Given the description of an element on the screen output the (x, y) to click on. 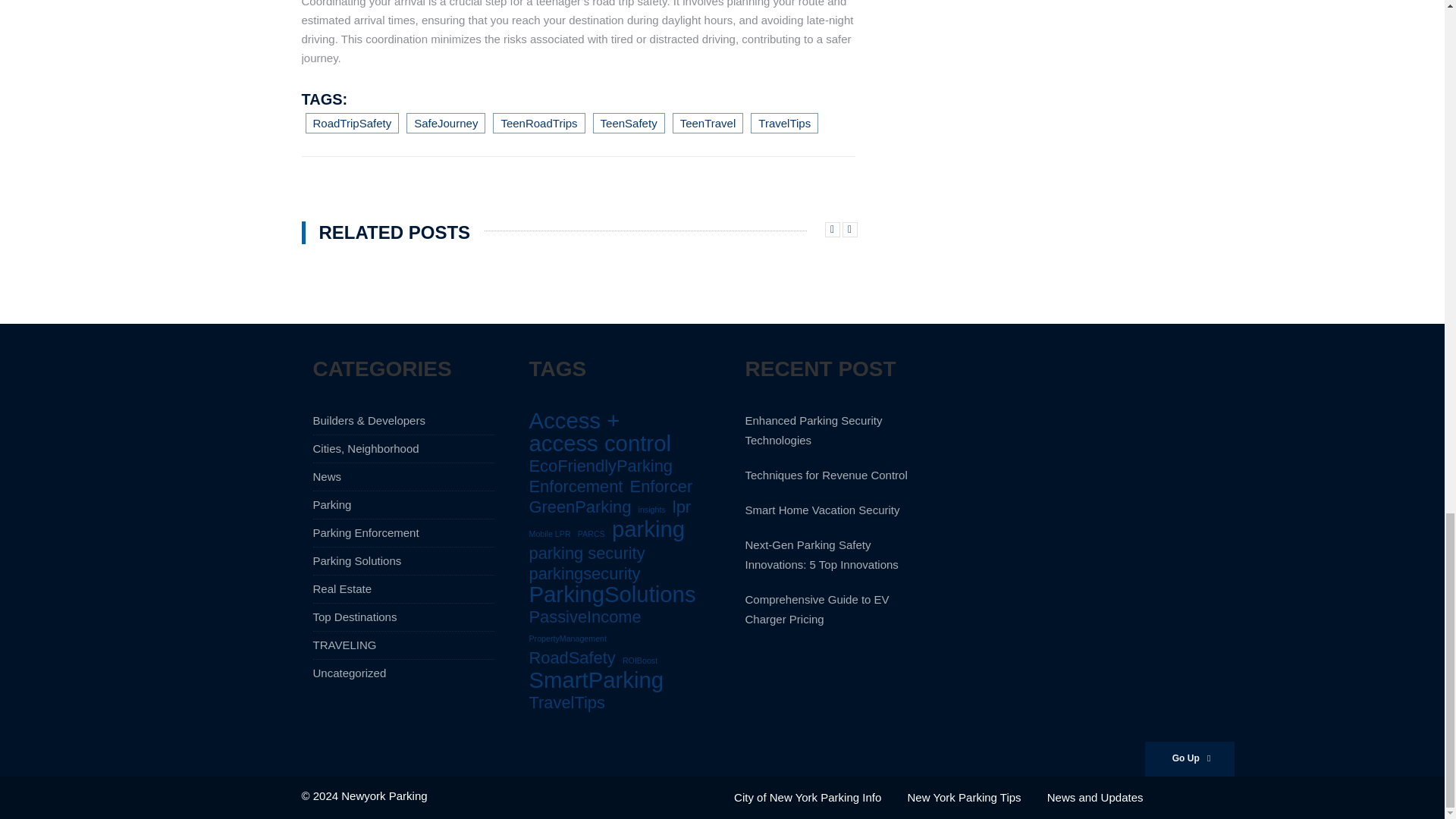
TeenTravel (708, 123)
Cities, Neighborhood (366, 448)
TravelTips (784, 123)
SafeJourney (445, 123)
TeenSafety (628, 123)
TeenRoadTrips (539, 123)
RoadTripSafety (351, 123)
